Given the description of an element on the screen output the (x, y) to click on. 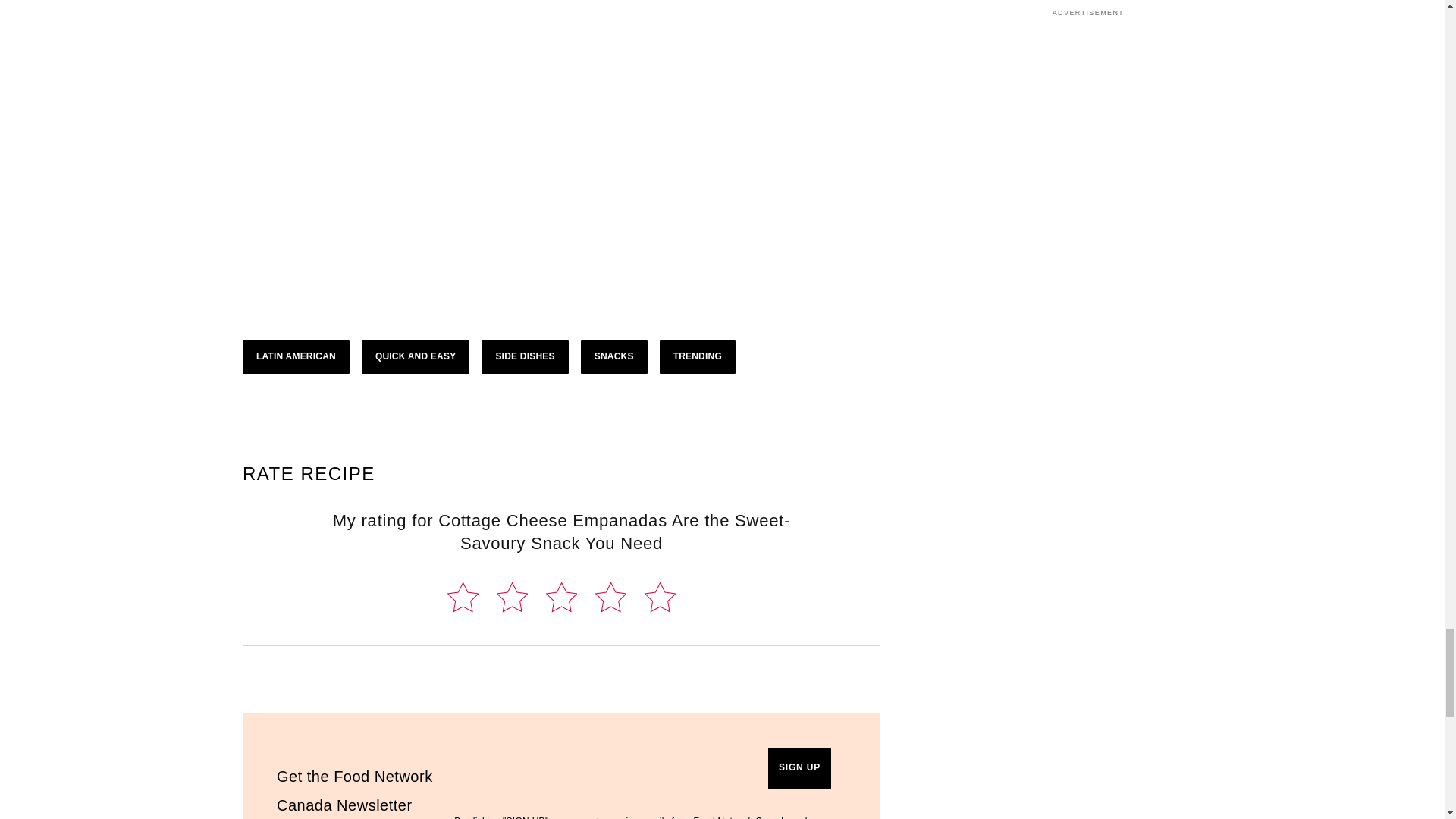
LATIN AMERICAN (296, 356)
SIGN UP (799, 767)
QUICK AND EASY (414, 356)
SIGN UP (799, 767)
TRENDING (697, 356)
SIDE DISHES (524, 356)
SNACKS (613, 356)
